Given the description of an element on the screen output the (x, y) to click on. 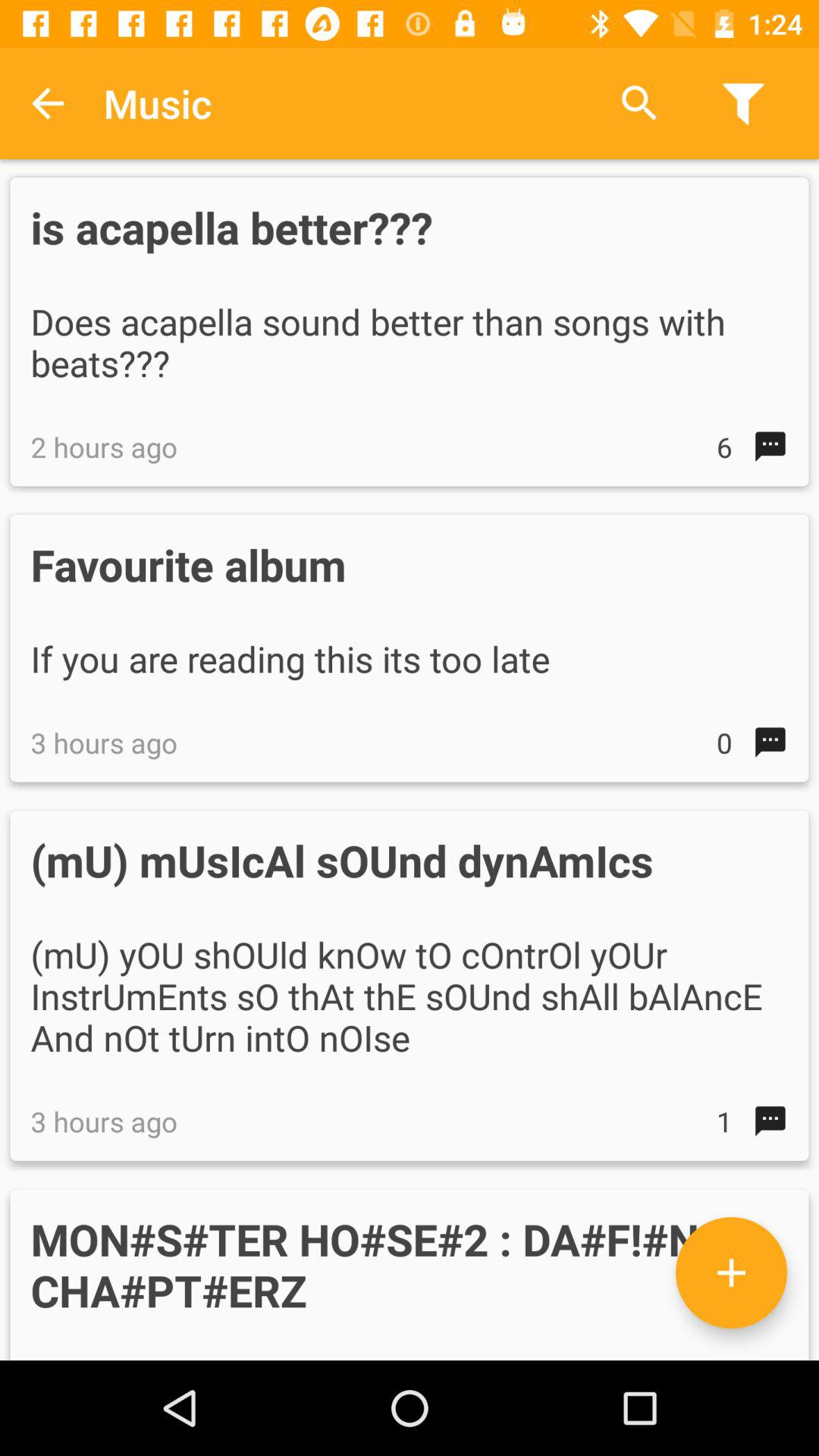
open the icon above the these are the icon (731, 1272)
